Given the description of an element on the screen output the (x, y) to click on. 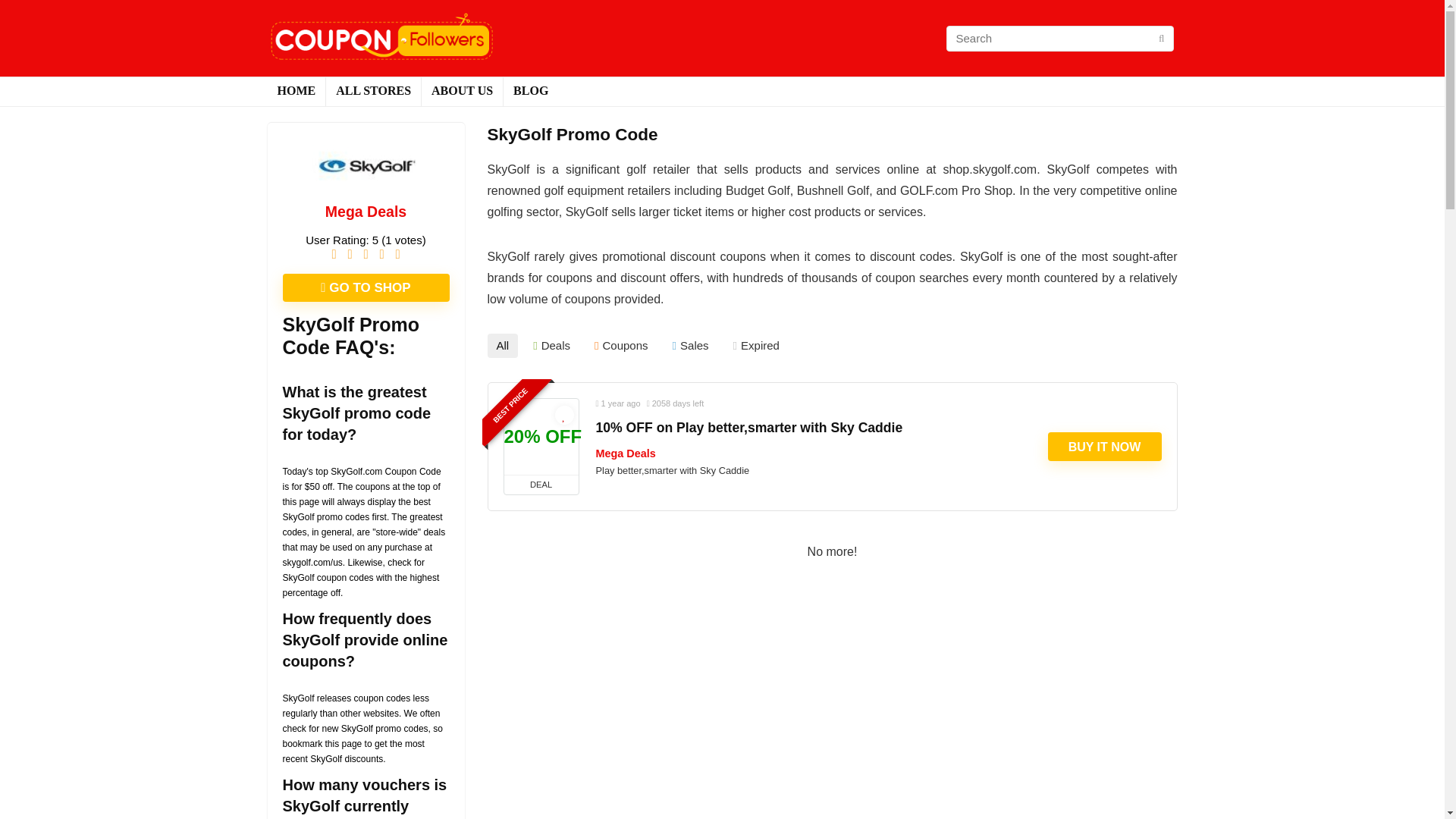
ABOUT US (462, 91)
HOME (295, 91)
ALL STORES (373, 91)
BUY IT NOW (1104, 446)
BLOG (530, 91)
GO TO SHOP (365, 287)
